Given the description of an element on the screen output the (x, y) to click on. 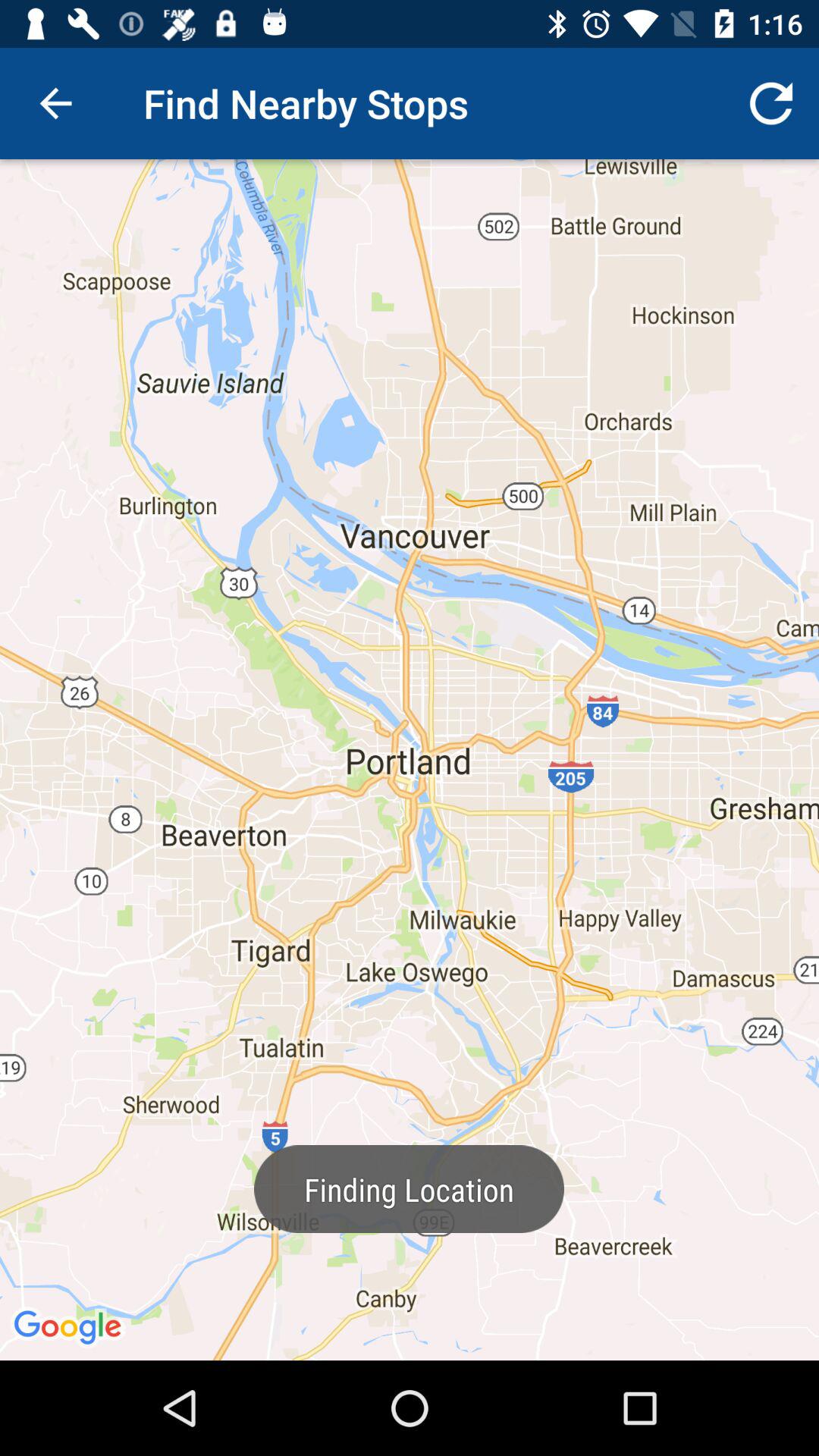
turn on icon at the top right corner (771, 103)
